Given the description of an element on the screen output the (x, y) to click on. 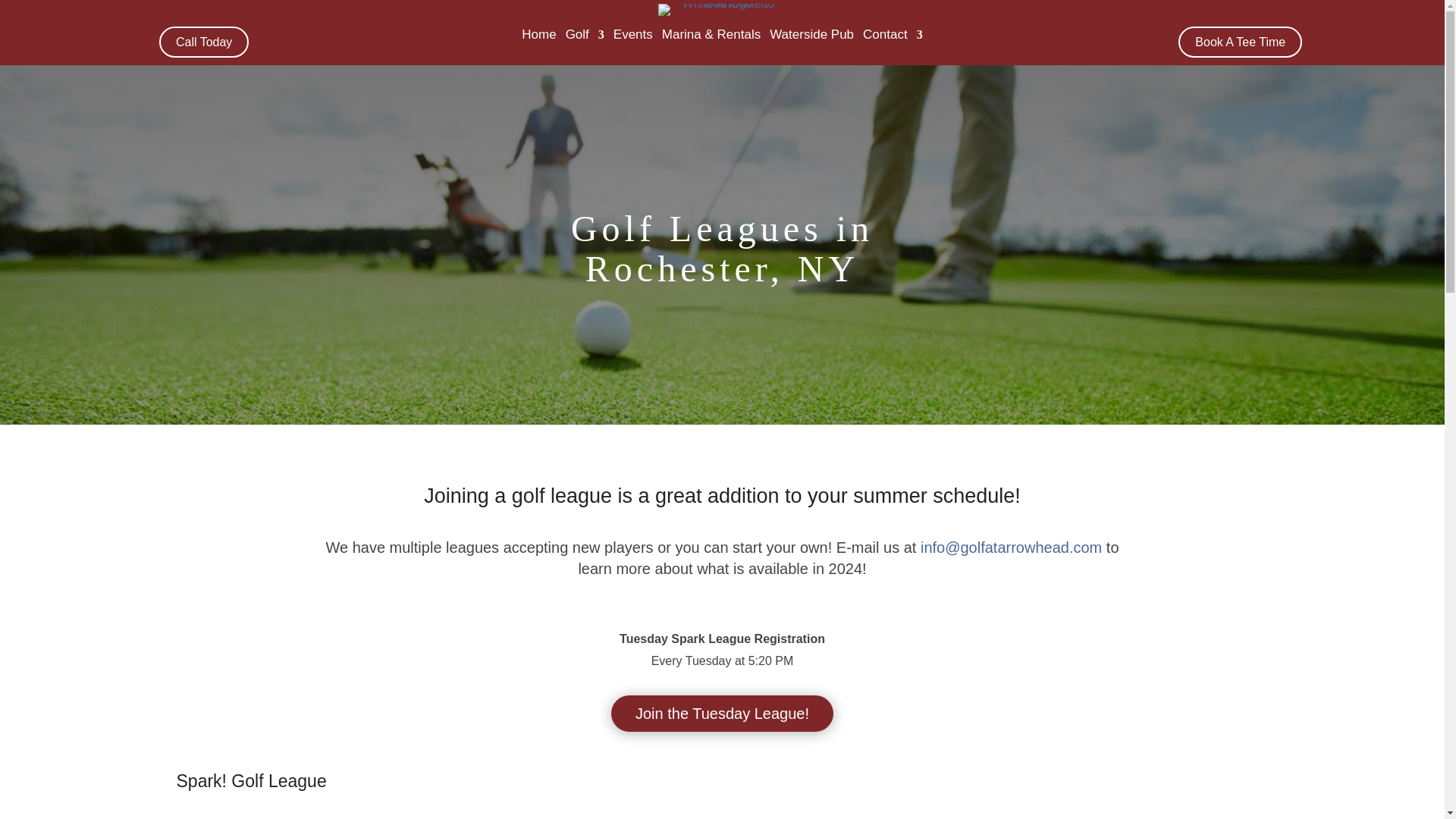
Call Today (203, 41)
Contact (893, 37)
Golf (585, 37)
Book A Tee Time (1239, 41)
Events (632, 37)
Home (538, 37)
Waterside Pub (811, 37)
Join the Tuesday League! (721, 713)
